Given the description of an element on the screen output the (x, y) to click on. 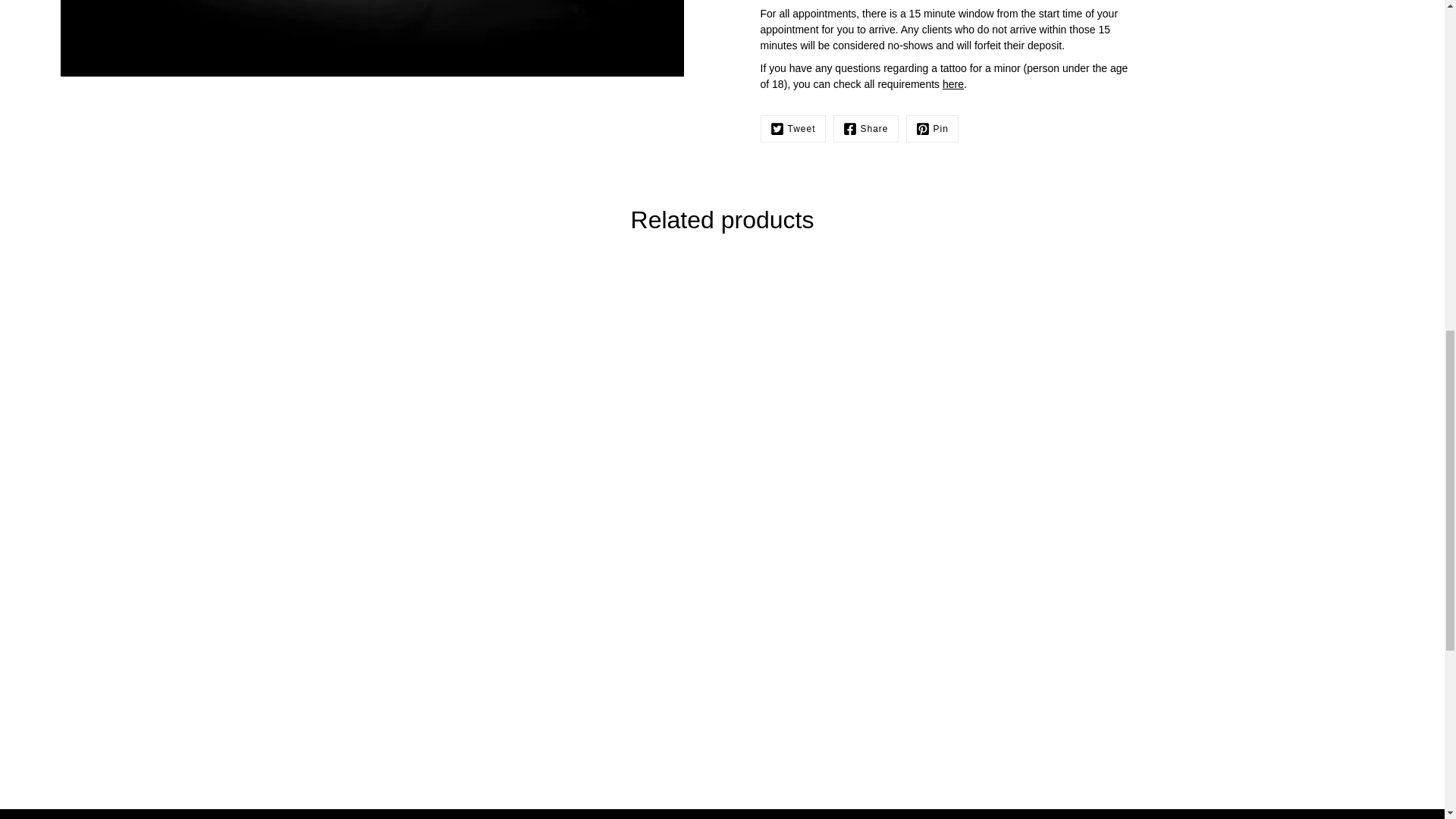
Pinterest (931, 128)
Twitter (792, 128)
Facebook (865, 128)
